Given the description of an element on the screen output the (x, y) to click on. 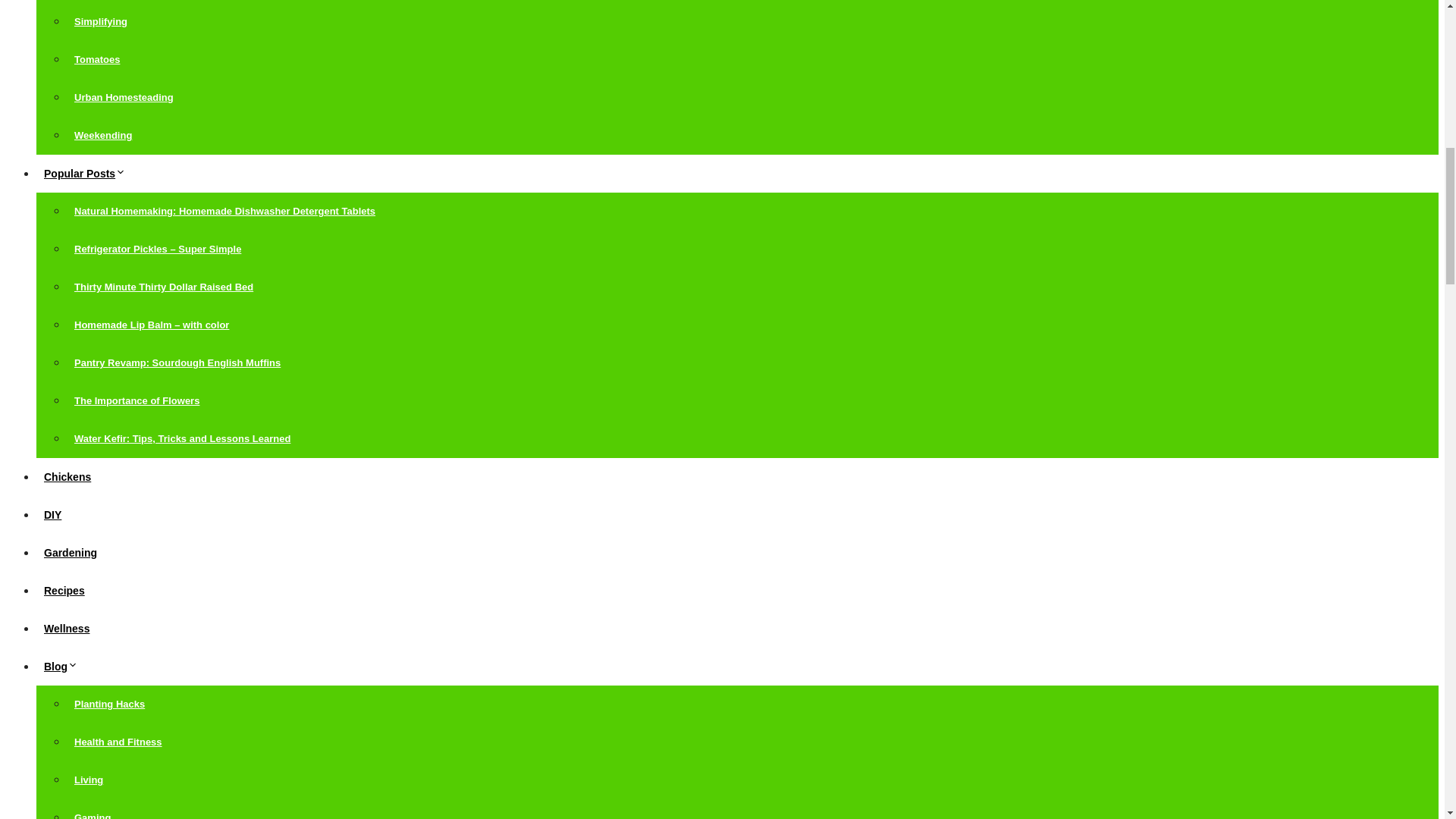
Gardening (70, 552)
Chickens (67, 476)
Weekending (102, 135)
Blog (64, 666)
DIY (52, 514)
Tomatoes (97, 58)
Simplifying (100, 21)
Urban Homesteading (123, 97)
Recipes (64, 590)
Thirty Minute Thirty Dollar Raised Bed (163, 286)
Pantry Revamp: Sourdough English Muffins (177, 362)
The Importance of Flowers (136, 400)
Wellness (66, 628)
Natural Homemaking: Homemade Dishwasher Detergent Tablets (224, 211)
Popular Posts (88, 173)
